Given the description of an element on the screen output the (x, y) to click on. 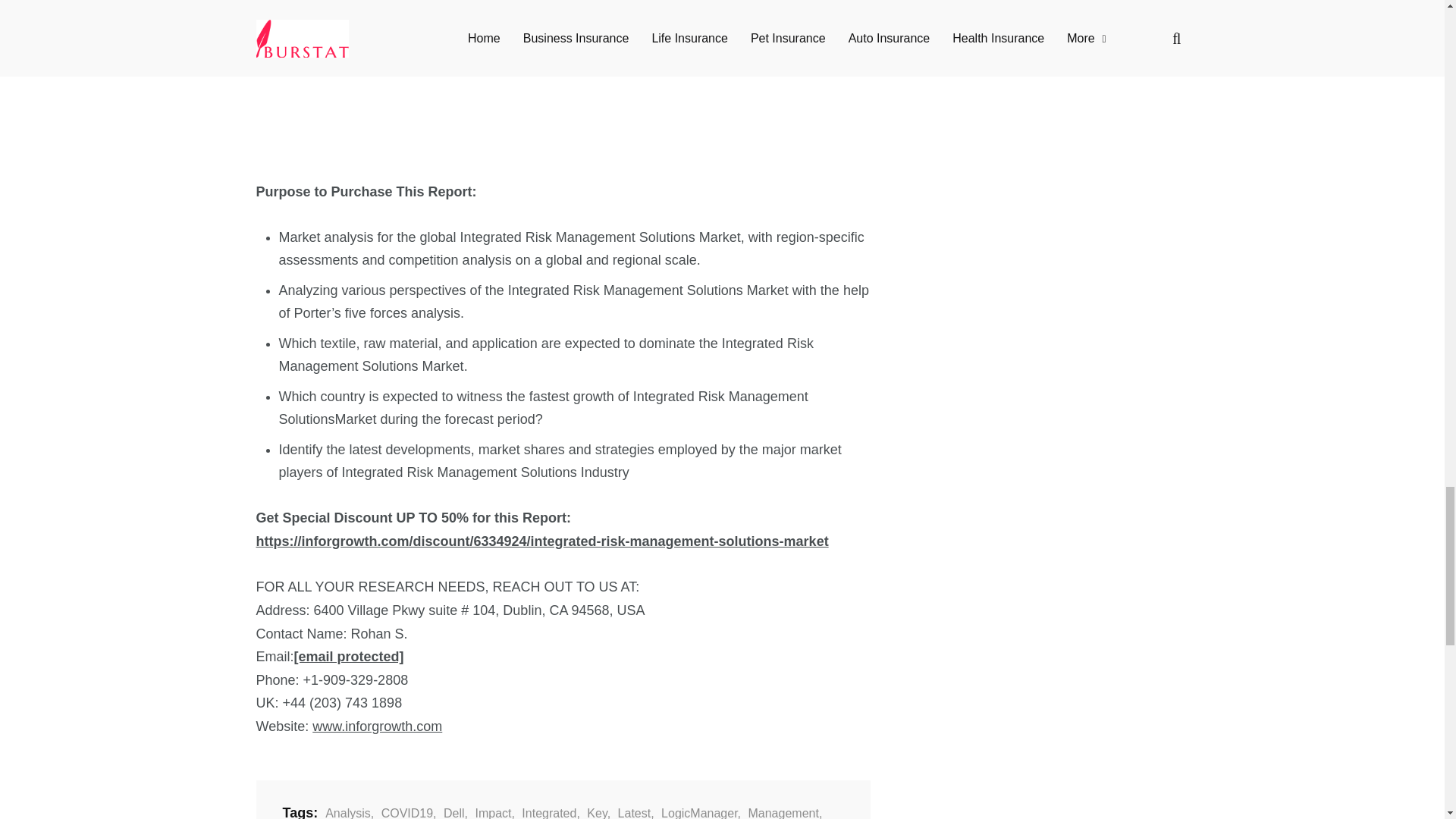
www.inforgrowth.com (377, 726)
Integrated (547, 812)
COVID19 (404, 812)
Tags: (300, 812)
Impact (490, 812)
Latest (632, 812)
Dell (451, 812)
Analysis (346, 812)
Key (595, 812)
LogicManager (698, 812)
